Given the description of an element on the screen output the (x, y) to click on. 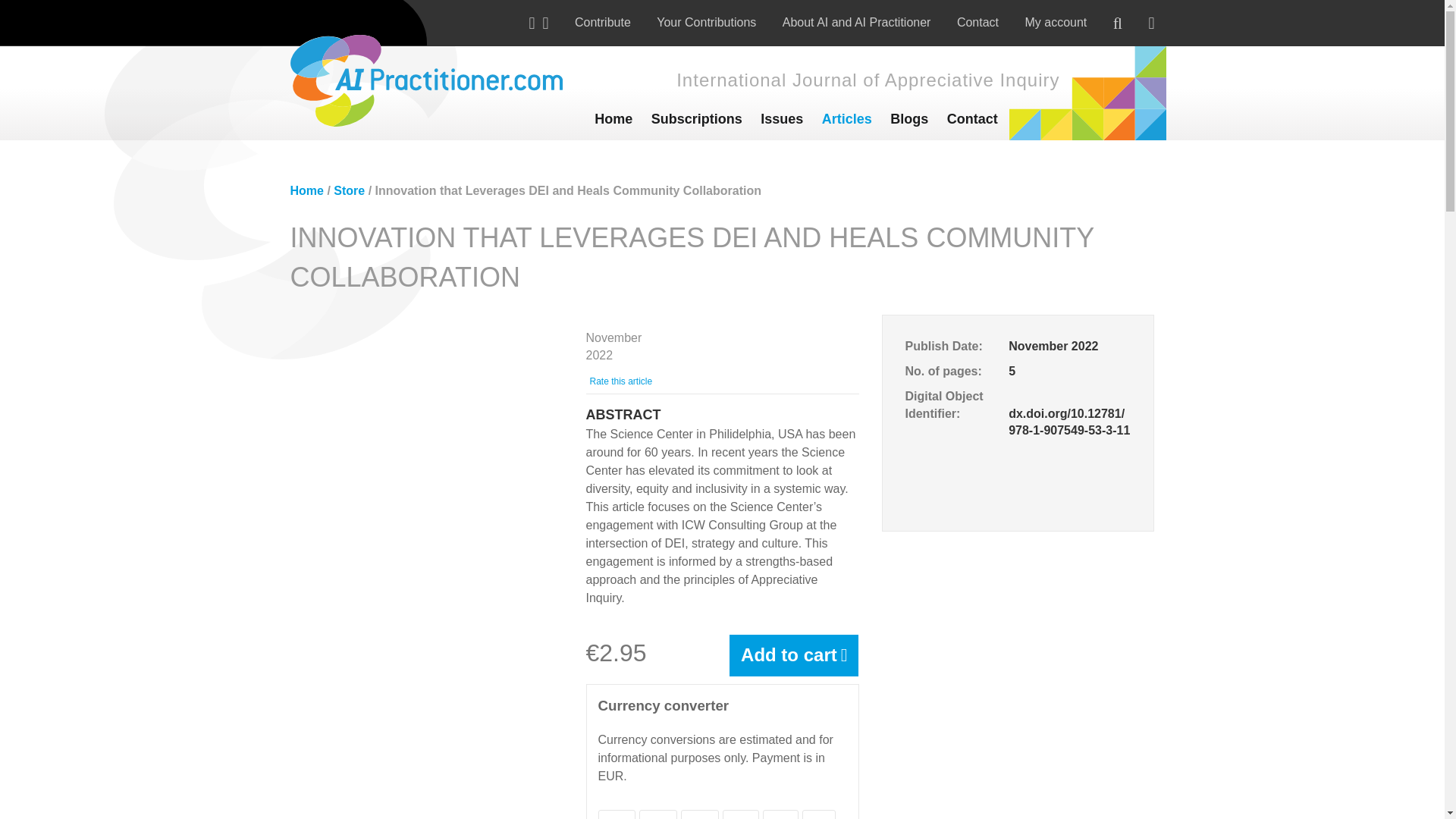
Contribute (602, 22)
Home (613, 119)
USD (658, 814)
Articles (846, 119)
Rate this article (620, 380)
Blogs (909, 119)
Contact (977, 22)
Contact (972, 119)
Subscriptions (696, 119)
My account (1055, 22)
GBP (699, 814)
About AI and AI Practitioner (856, 22)
Store (349, 190)
EUR (616, 814)
Add to cart (794, 654)
